Given the description of an element on the screen output the (x, y) to click on. 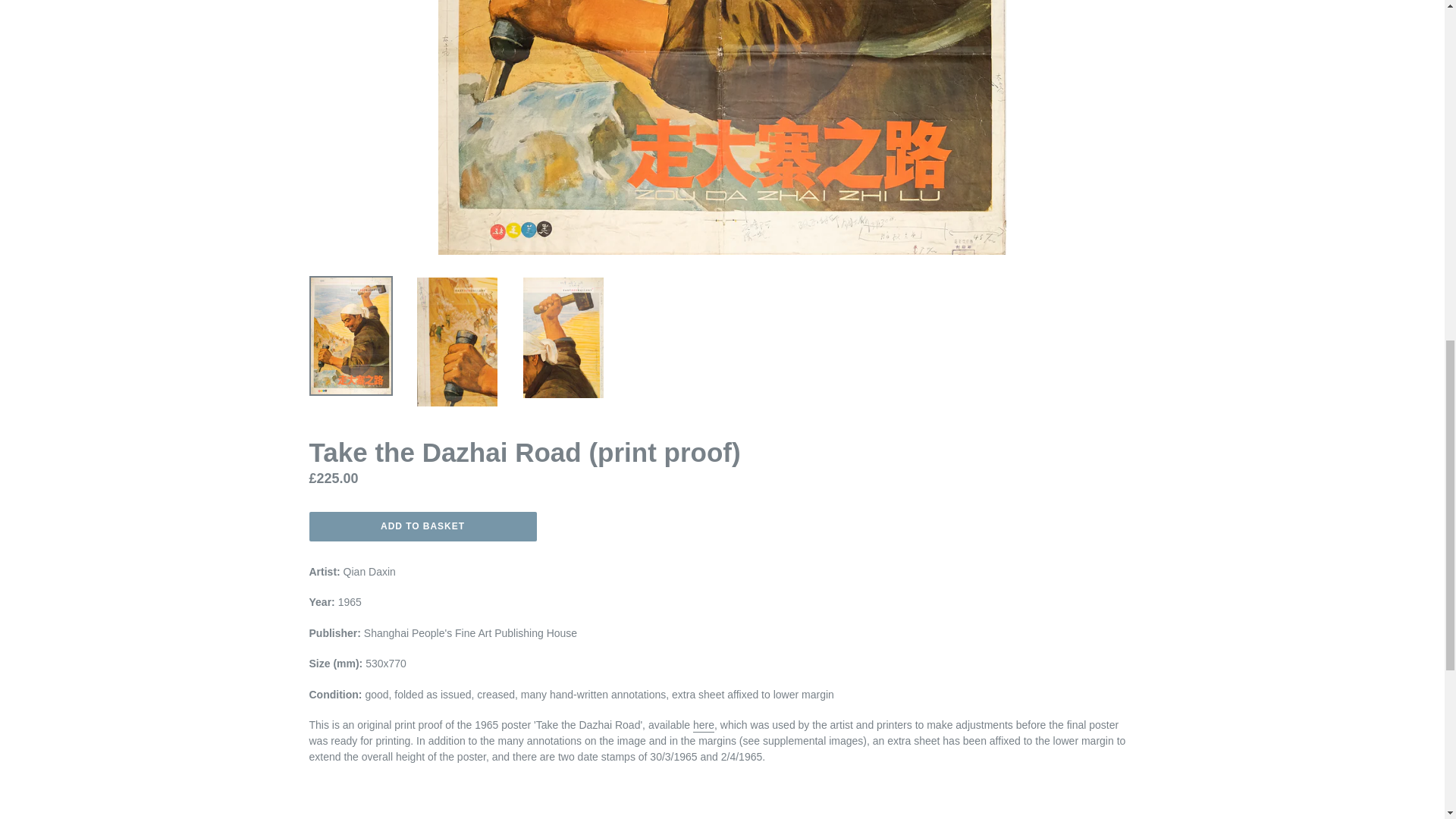
Link to Take the Dazhai Road poster page (703, 725)
